Given the description of an element on the screen output the (x, y) to click on. 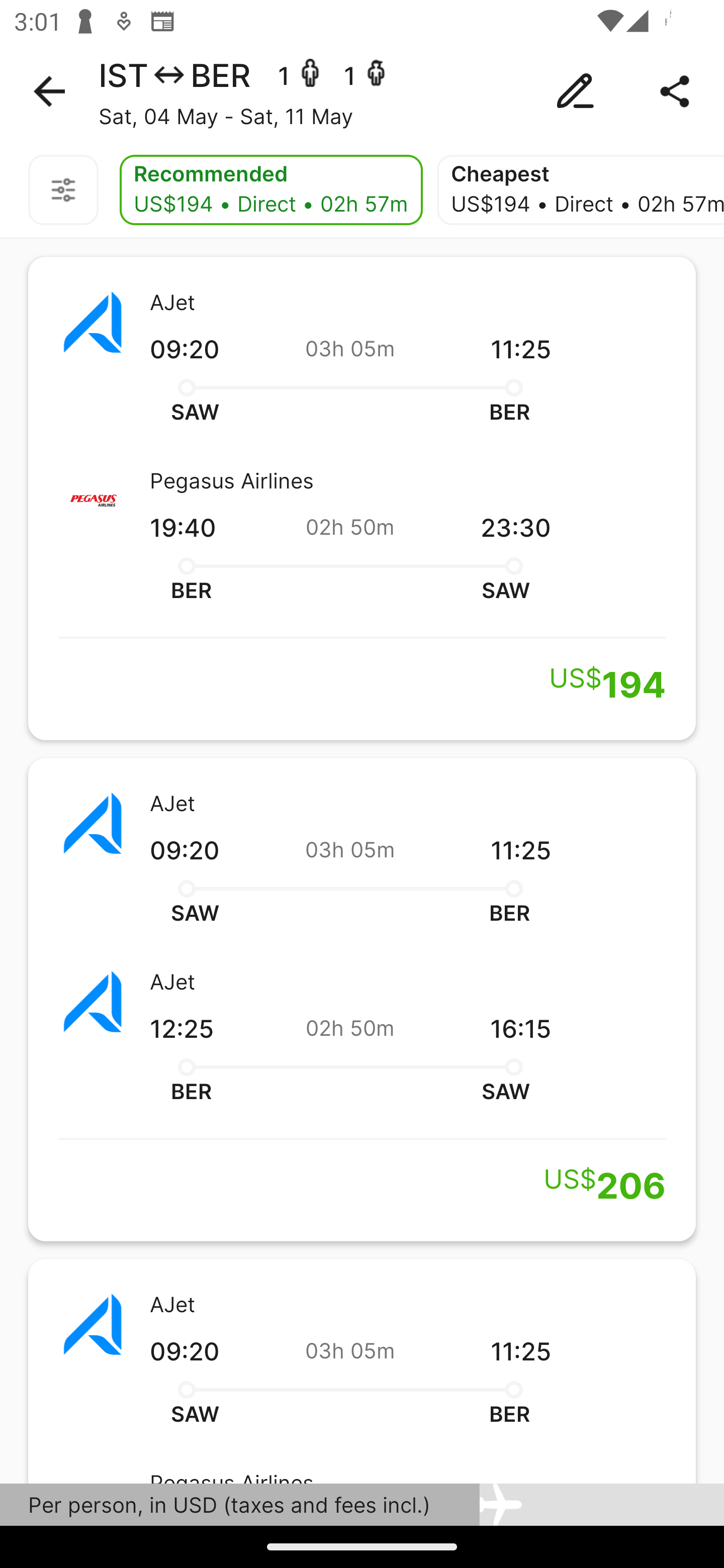
IST BER   1 -   1 - Sat, 04 May - Sat, 11 May (361, 91)
Recommended  US$194 • Direct • 02h 57m (270, 190)
Cheapest US$194 • Direct • 02h 57m (580, 190)
AJet 09:20 03h 05m 11:25 SAW BER Pegasus Airlines (361, 1371)
